Given the description of an element on the screen output the (x, y) to click on. 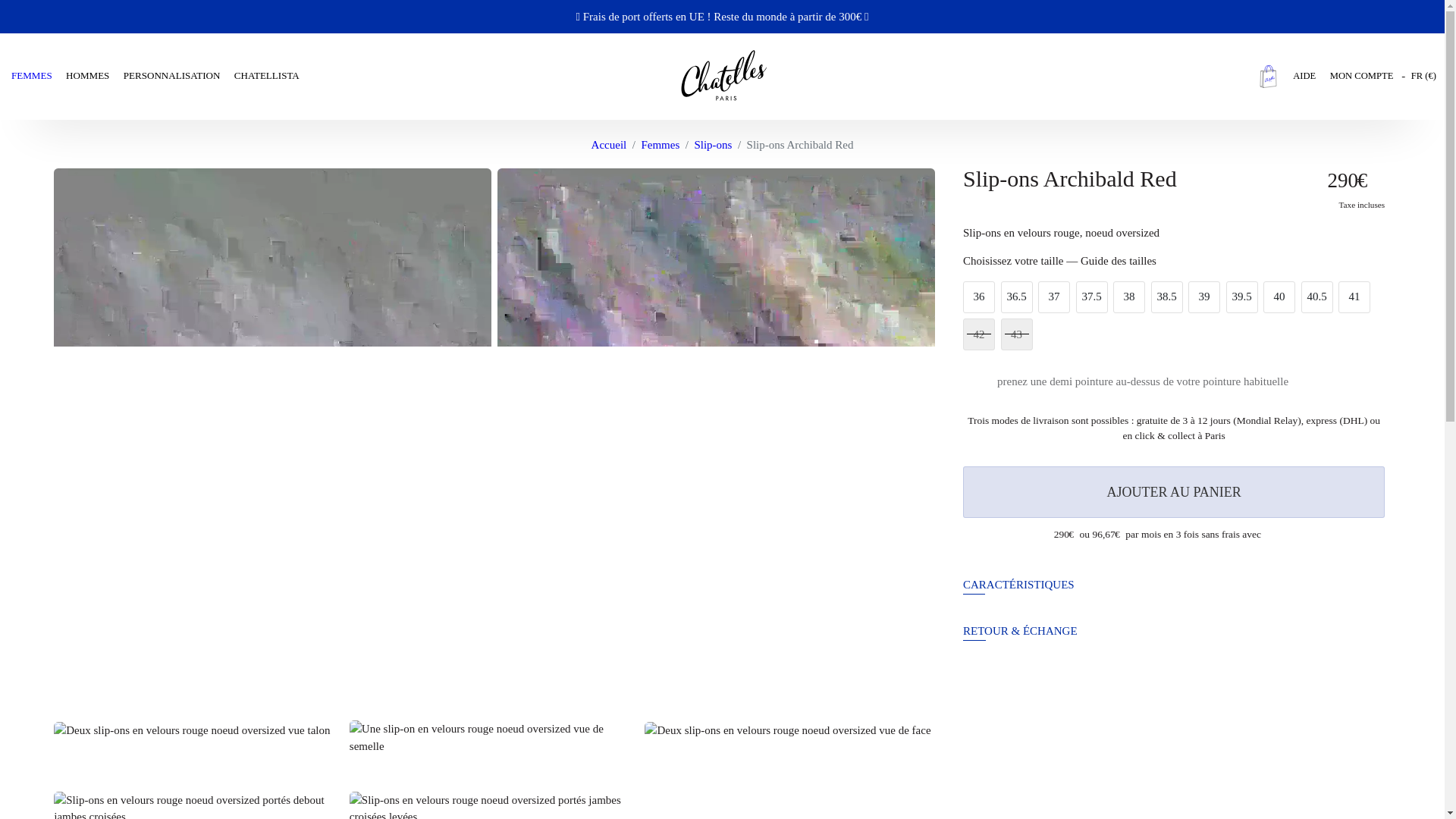
Accueil (609, 144)
AIDE (1305, 76)
HOMMES (89, 76)
search (1232, 75)
Wishlist (1246, 75)
Femmes (36, 76)
Femmes (659, 144)
 Shop  (721, 16)
Aide (1305, 76)
Chatelles (722, 75)
Hommes (89, 76)
FEMMES (36, 76)
CHATELLISTA (263, 76)
PERSONNALISATION (172, 76)
Personnalisation (172, 76)
